Given the description of an element on the screen output the (x, y) to click on. 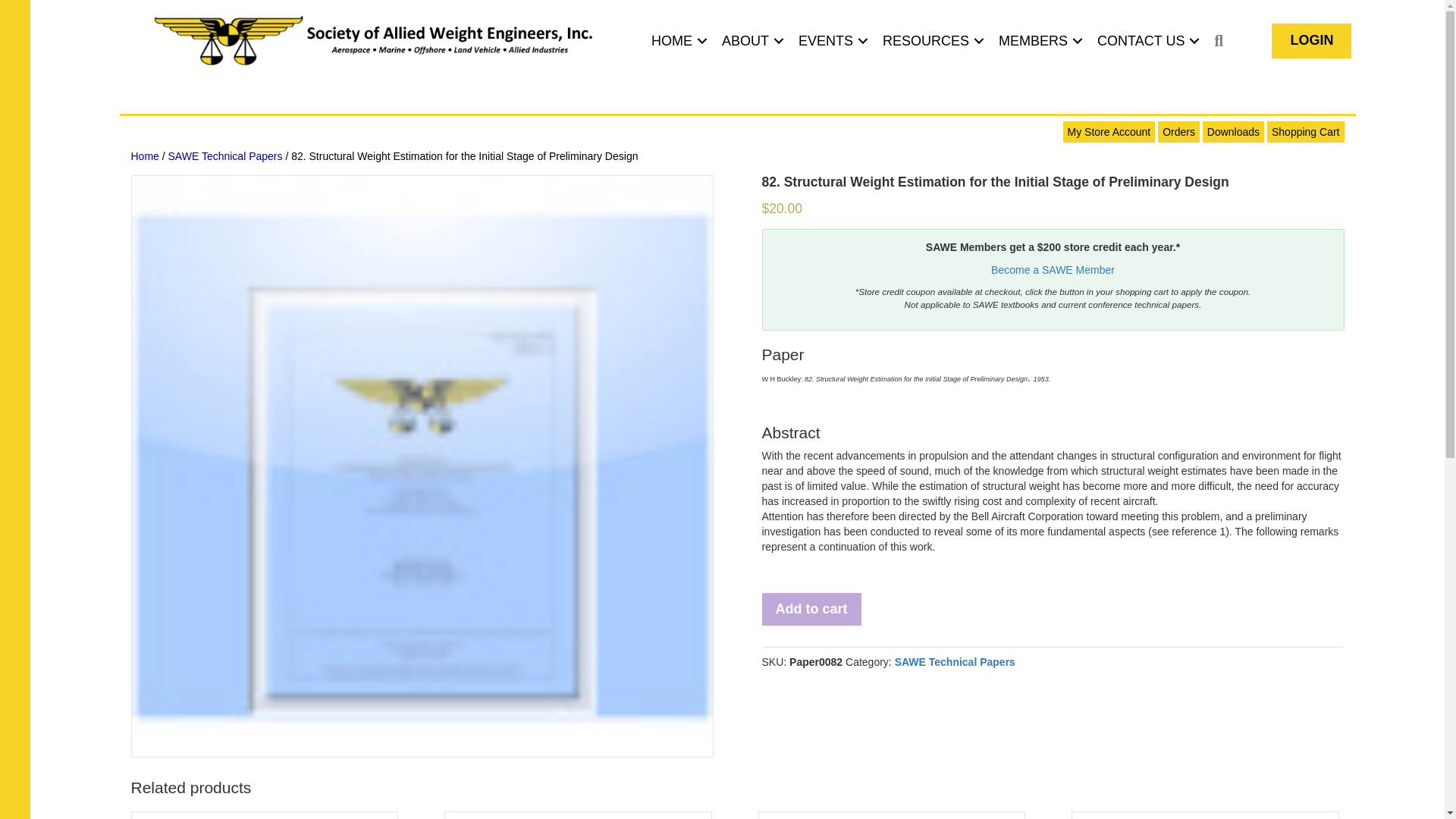
EVENTS (830, 40)
ABOUT (751, 40)
RESOURCES (930, 40)
HOME (676, 40)
